Given the description of an element on the screen output the (x, y) to click on. 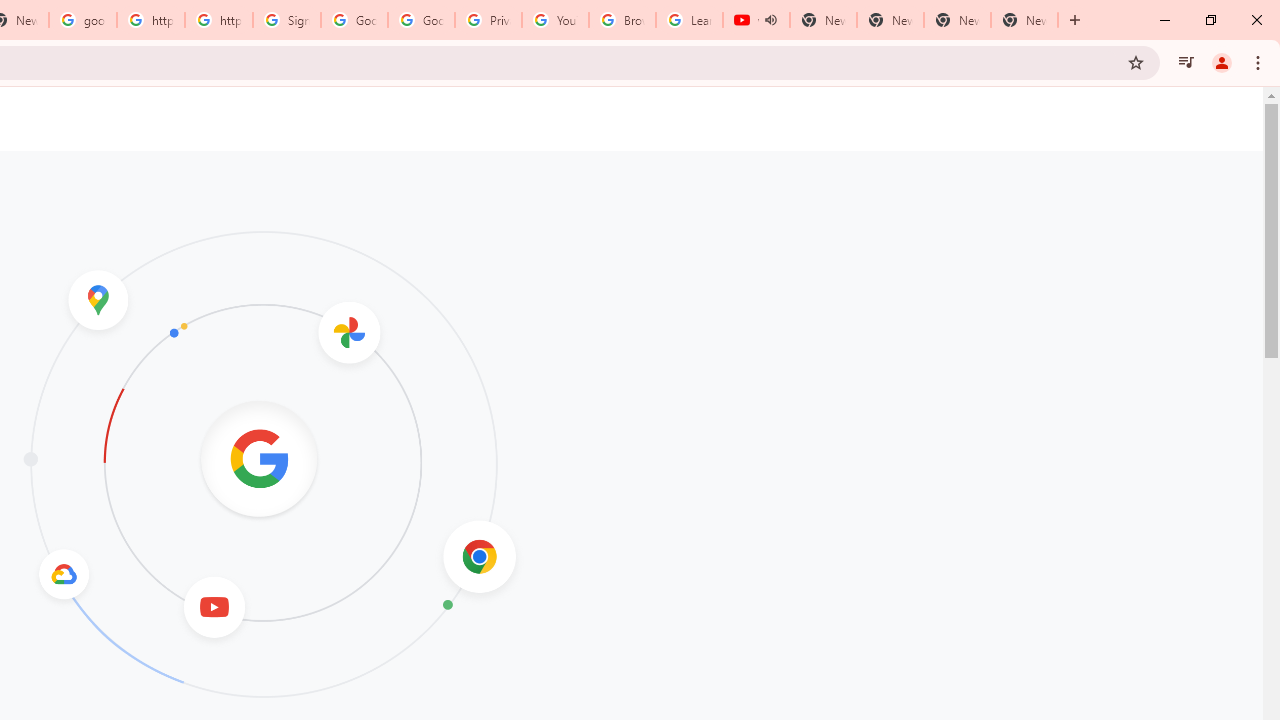
YouTube (555, 20)
https://scholar.google.com/ (219, 20)
